Given the description of an element on the screen output the (x, y) to click on. 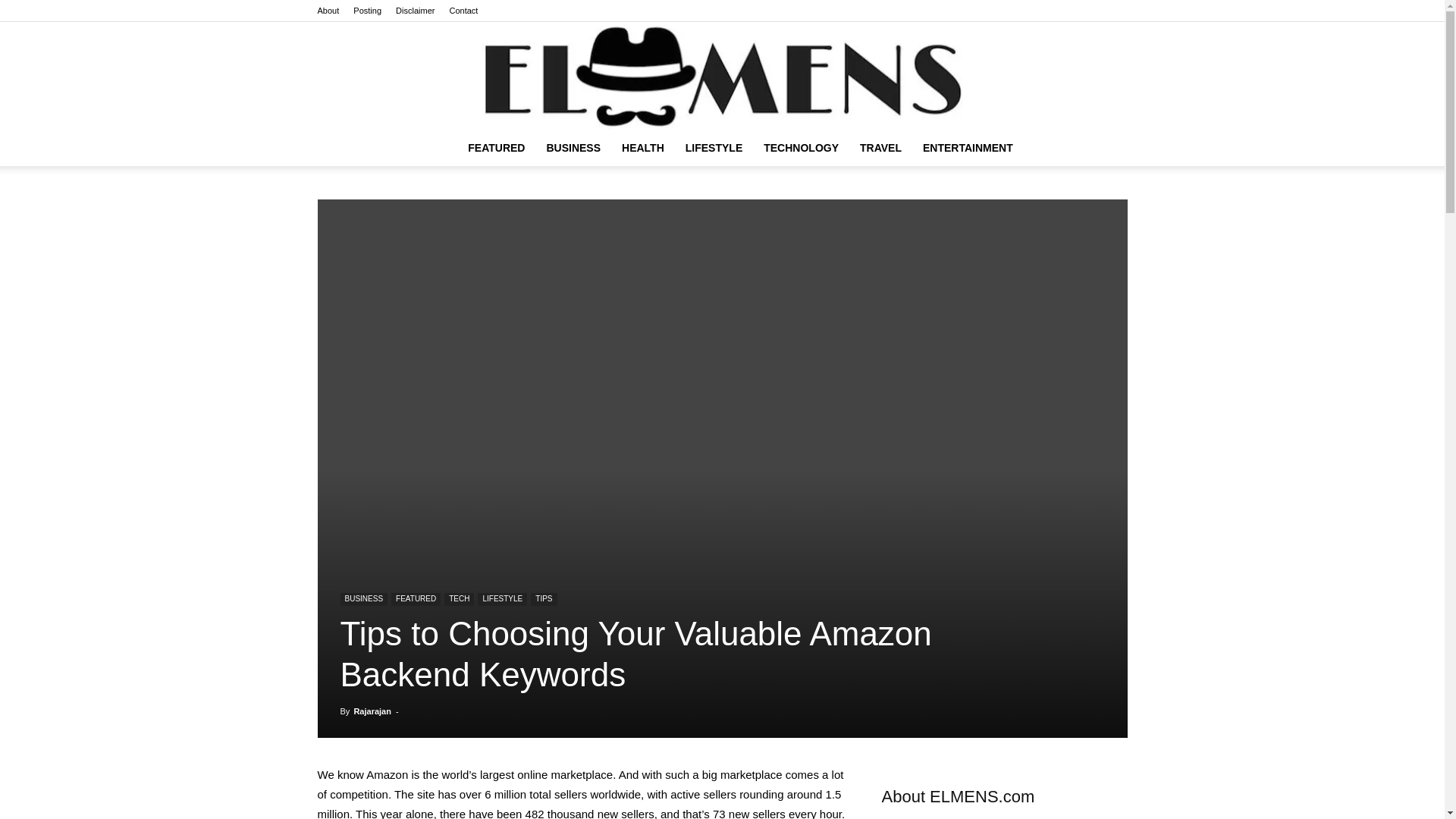
CATEGORIES (496, 147)
elmenslogo (721, 75)
LIFESTYLE (713, 147)
